Given the description of an element on the screen output the (x, y) to click on. 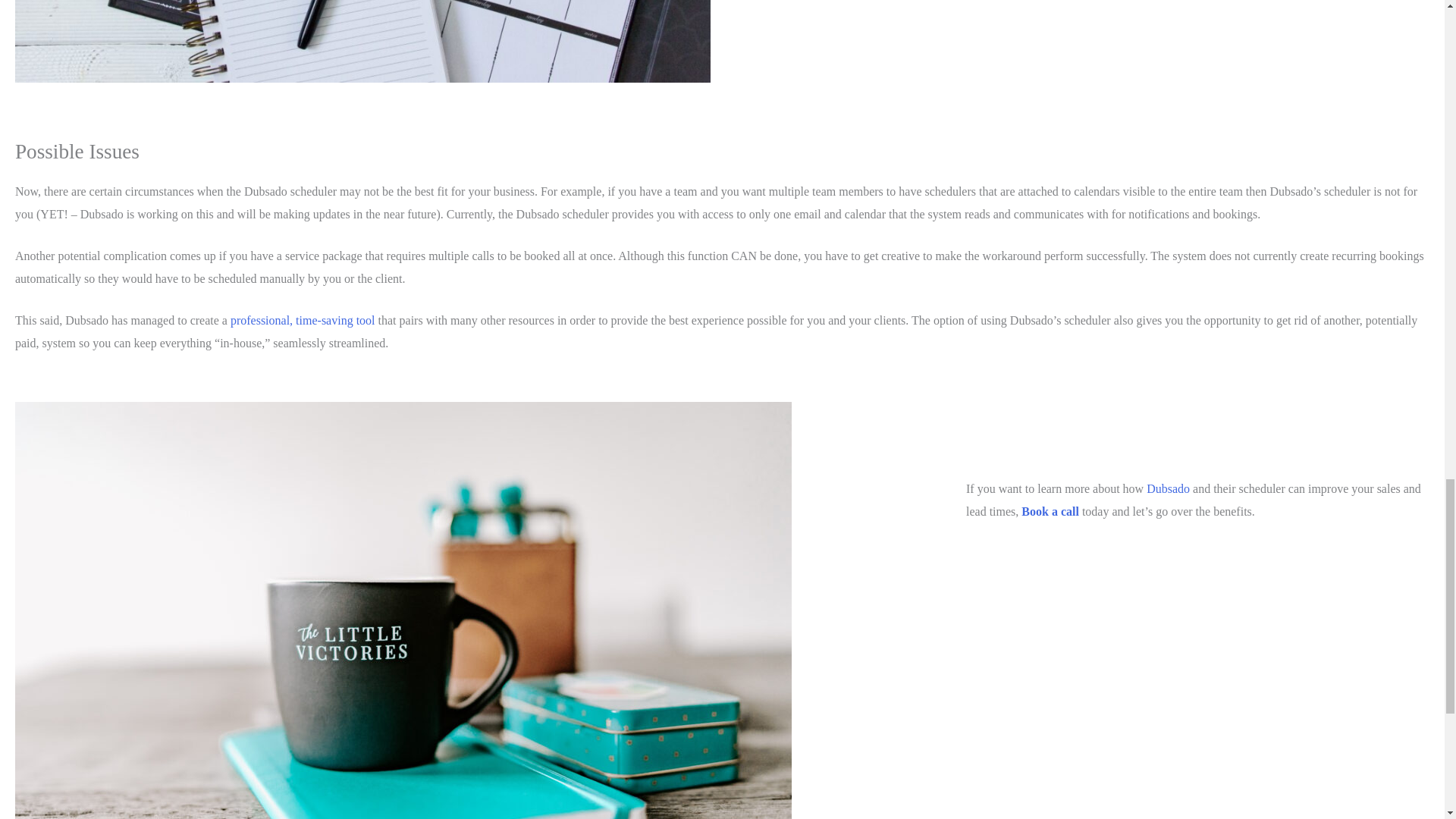
Dubsado (1168, 488)
professional, time-saving tool (301, 319)
Book a call (1051, 511)
